Given the description of an element on the screen output the (x, y) to click on. 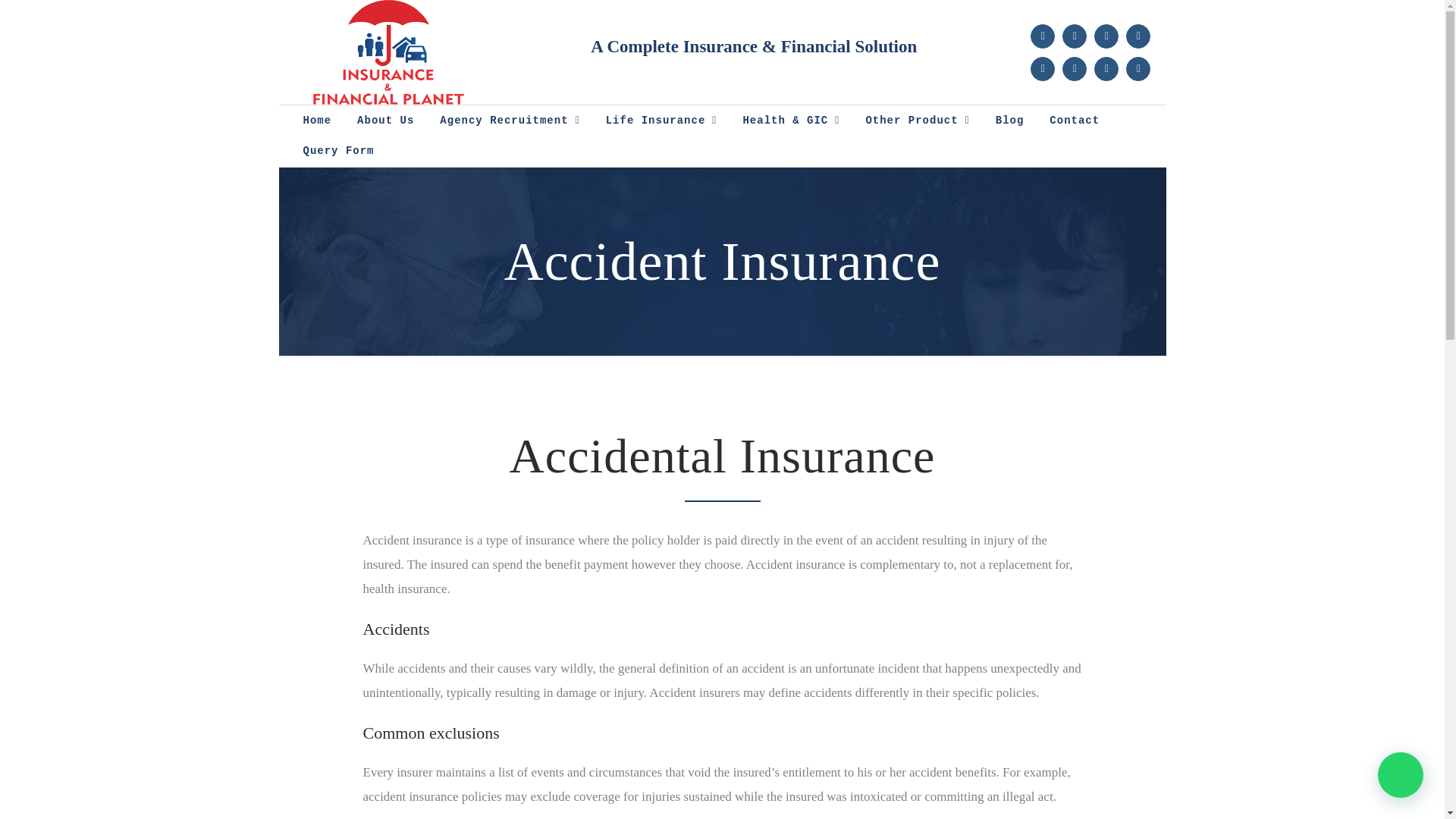
instagram (1106, 36)
Life Insurance (661, 120)
About Us (384, 120)
tumblr (1074, 68)
facebook (1042, 36)
Agency Recruitment (509, 120)
whatsapp (1106, 68)
youtube (1042, 68)
linkedin (1074, 36)
Home (316, 120)
Email (1137, 68)
twitter (1137, 36)
